Given the description of an element on the screen output the (x, y) to click on. 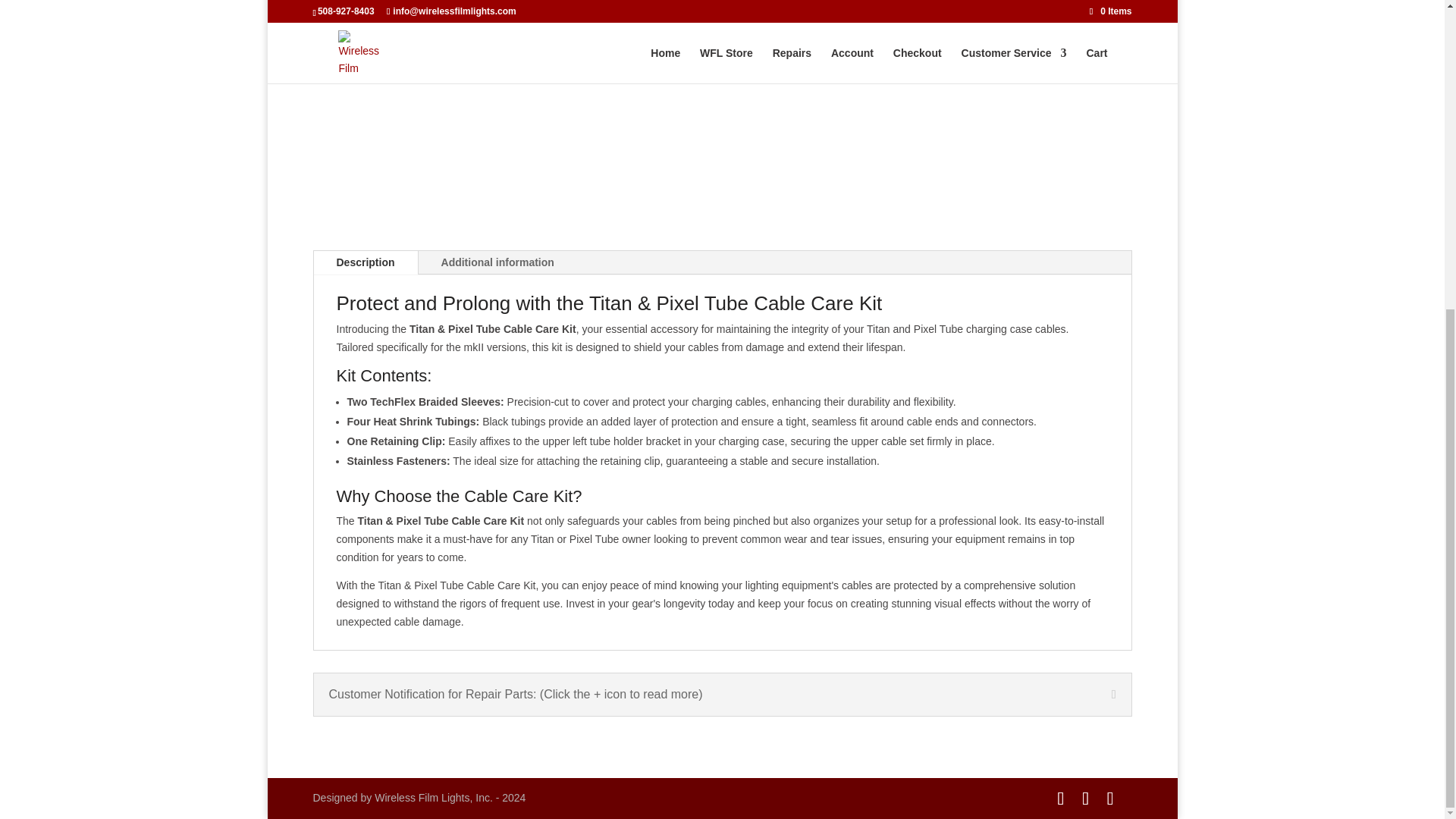
Description (365, 262)
Astera-LED (844, 9)
Additional information (497, 262)
